Given the description of an element on the screen output the (x, y) to click on. 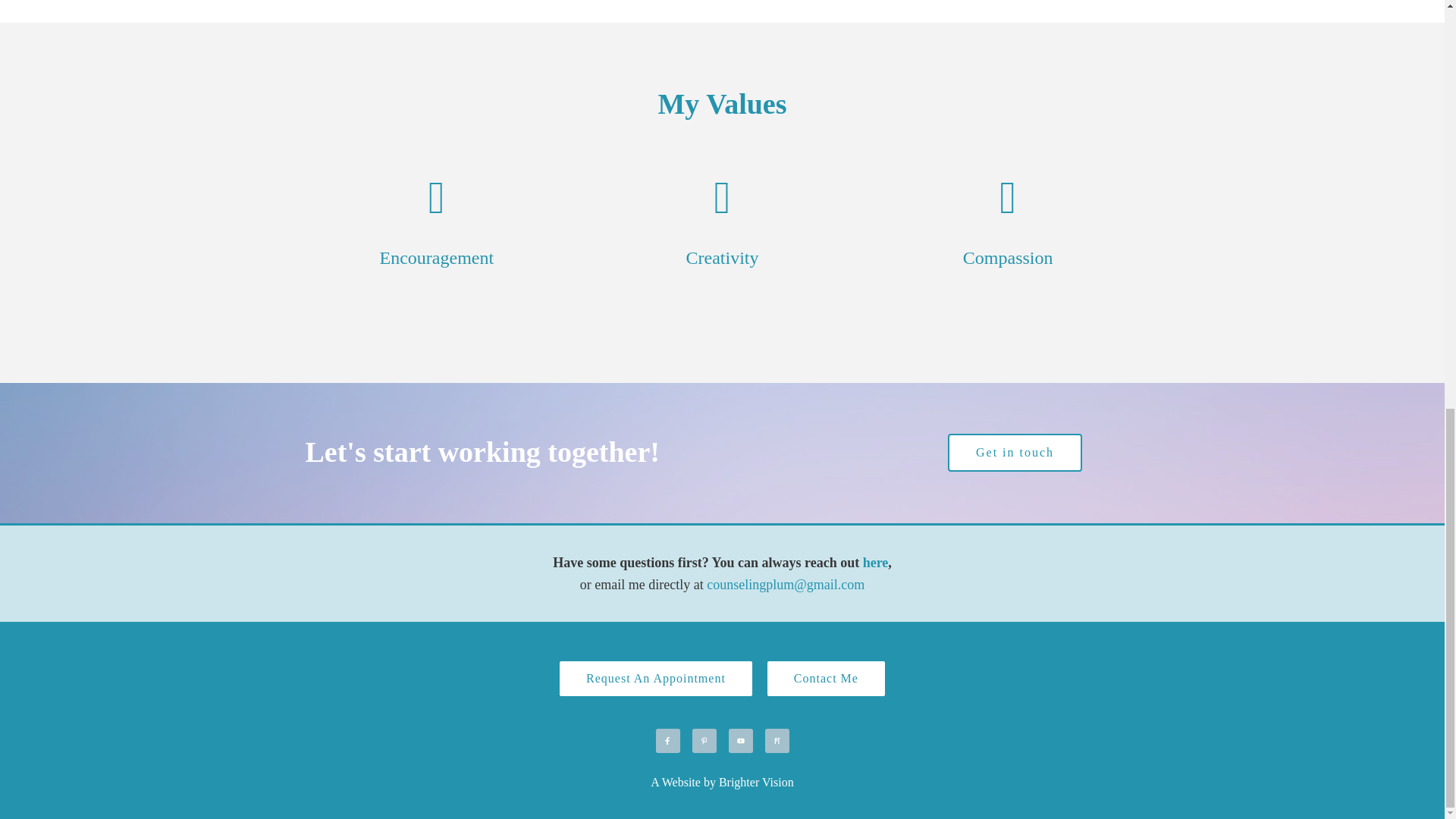
here (875, 562)
Compassion (1007, 258)
Creativity (721, 258)
Encouragement (437, 258)
Request An Appointment (655, 678)
Get in touch (1014, 452)
